Given the description of an element on the screen output the (x, y) to click on. 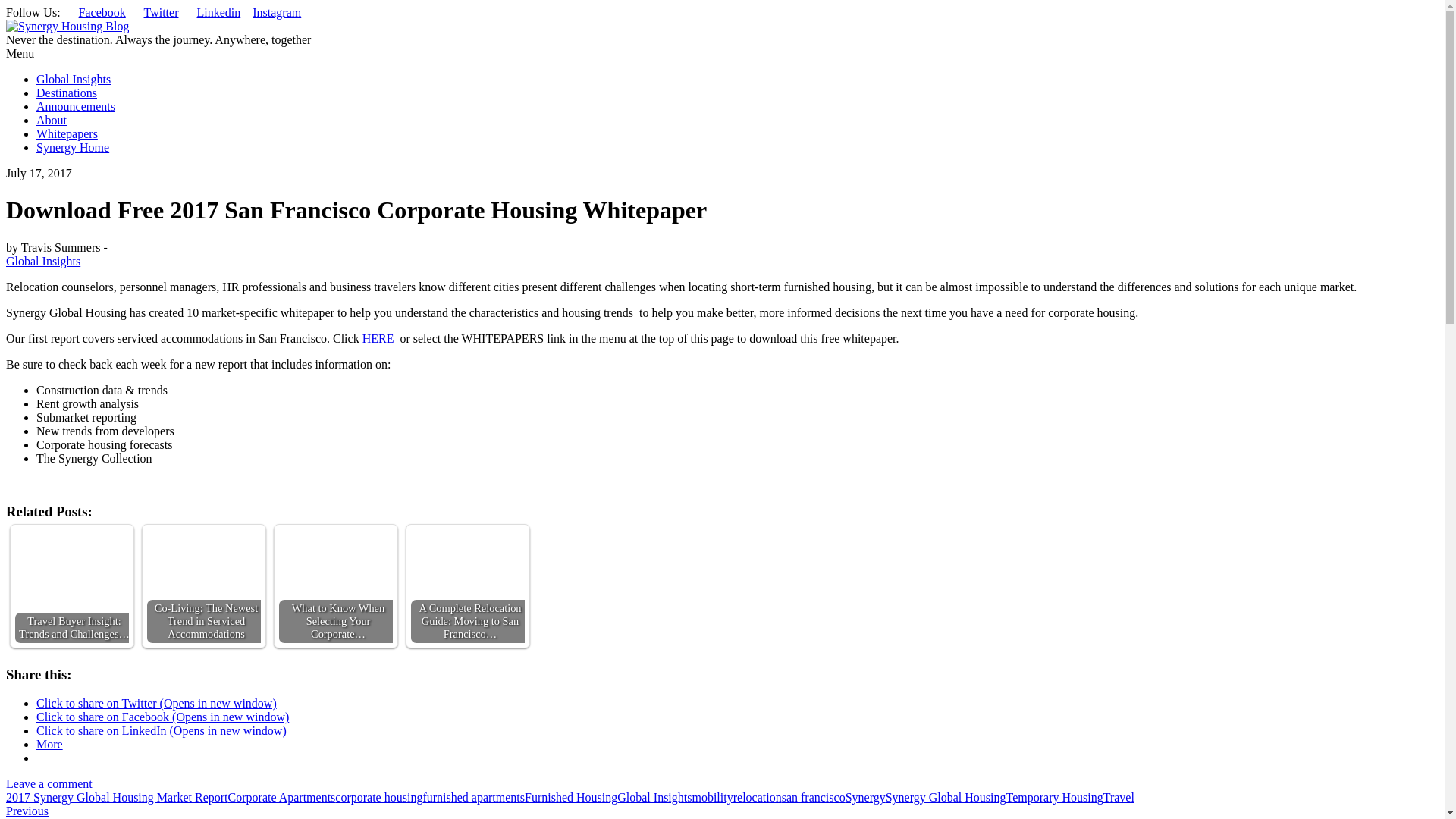
Click to share on Twitter (156, 703)
Twitter (161, 11)
Click to share on Facebook (162, 716)
Instagram (276, 11)
Linkedin (218, 11)
Facebook (101, 11)
Announcements (75, 106)
Synergy Home (72, 146)
Destinations (66, 92)
Global Insights (73, 78)
